Given the description of an element on the screen output the (x, y) to click on. 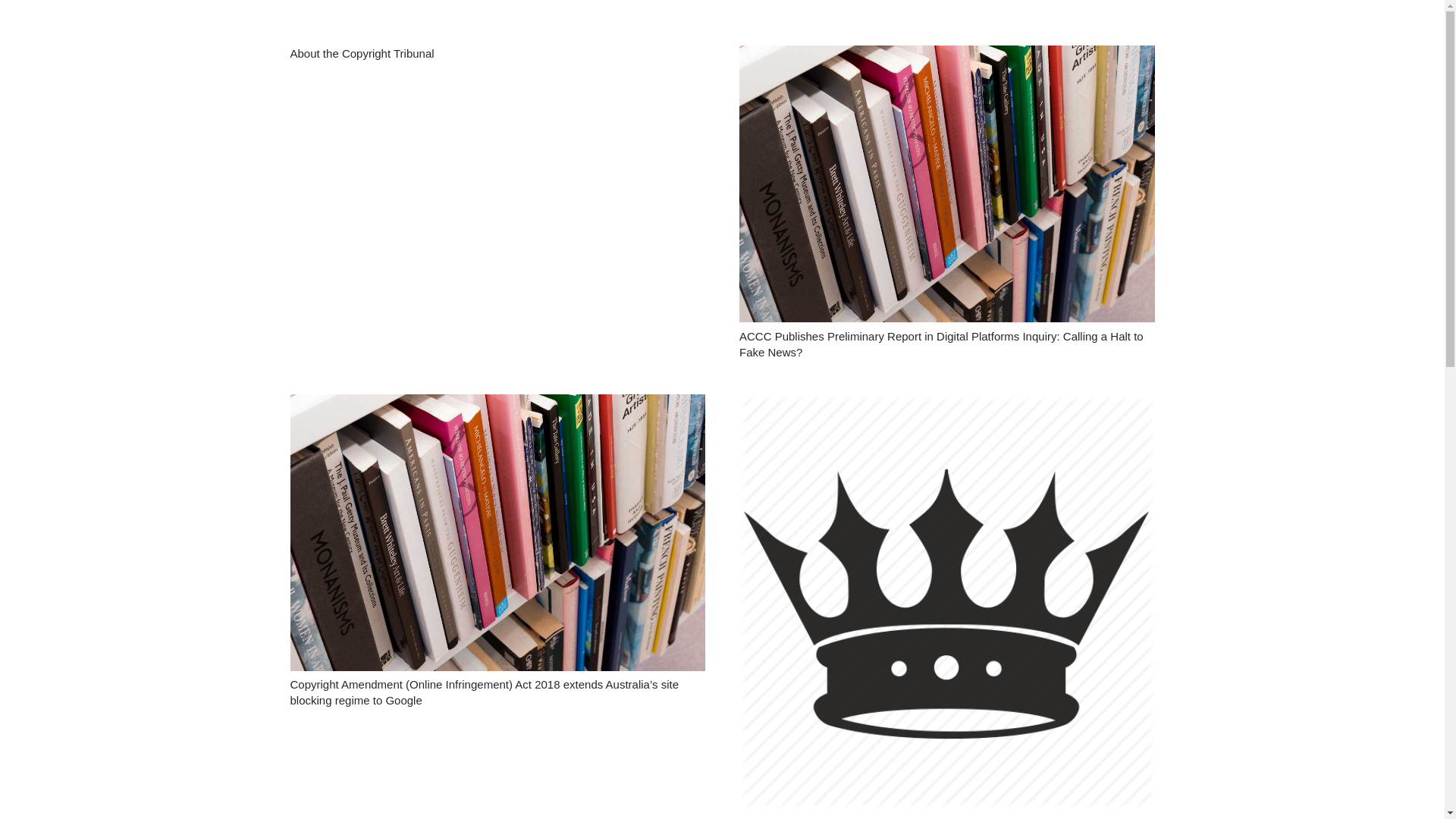
About the Copyright Tribunal Element type: text (361, 53)
